Given the description of an element on the screen output the (x, y) to click on. 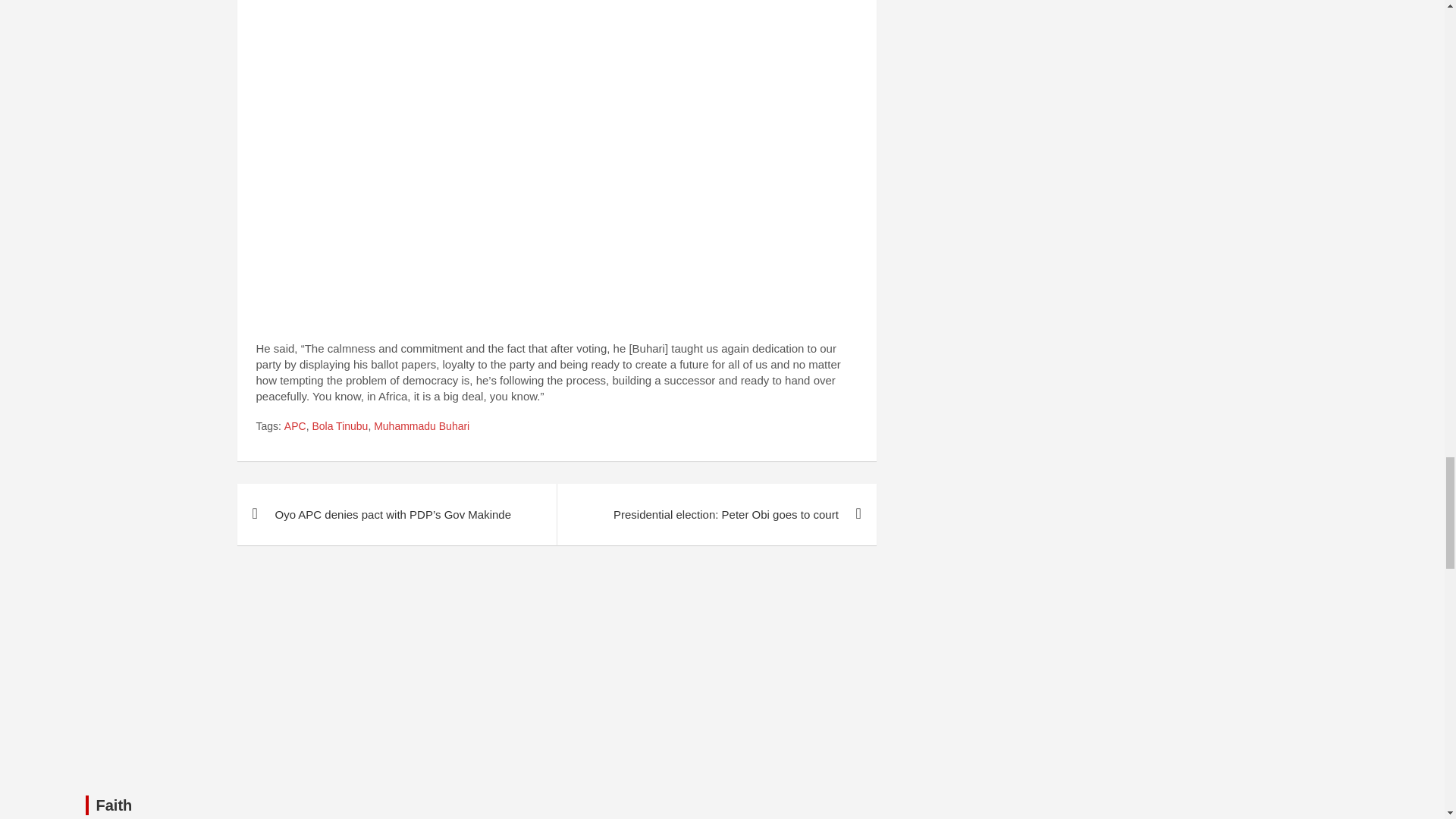
APC (294, 426)
Presidential election: Peter Obi goes to court (716, 514)
Bola Tinubu (339, 426)
Muhammadu Buhari (421, 426)
